Given the description of an element on the screen output the (x, y) to click on. 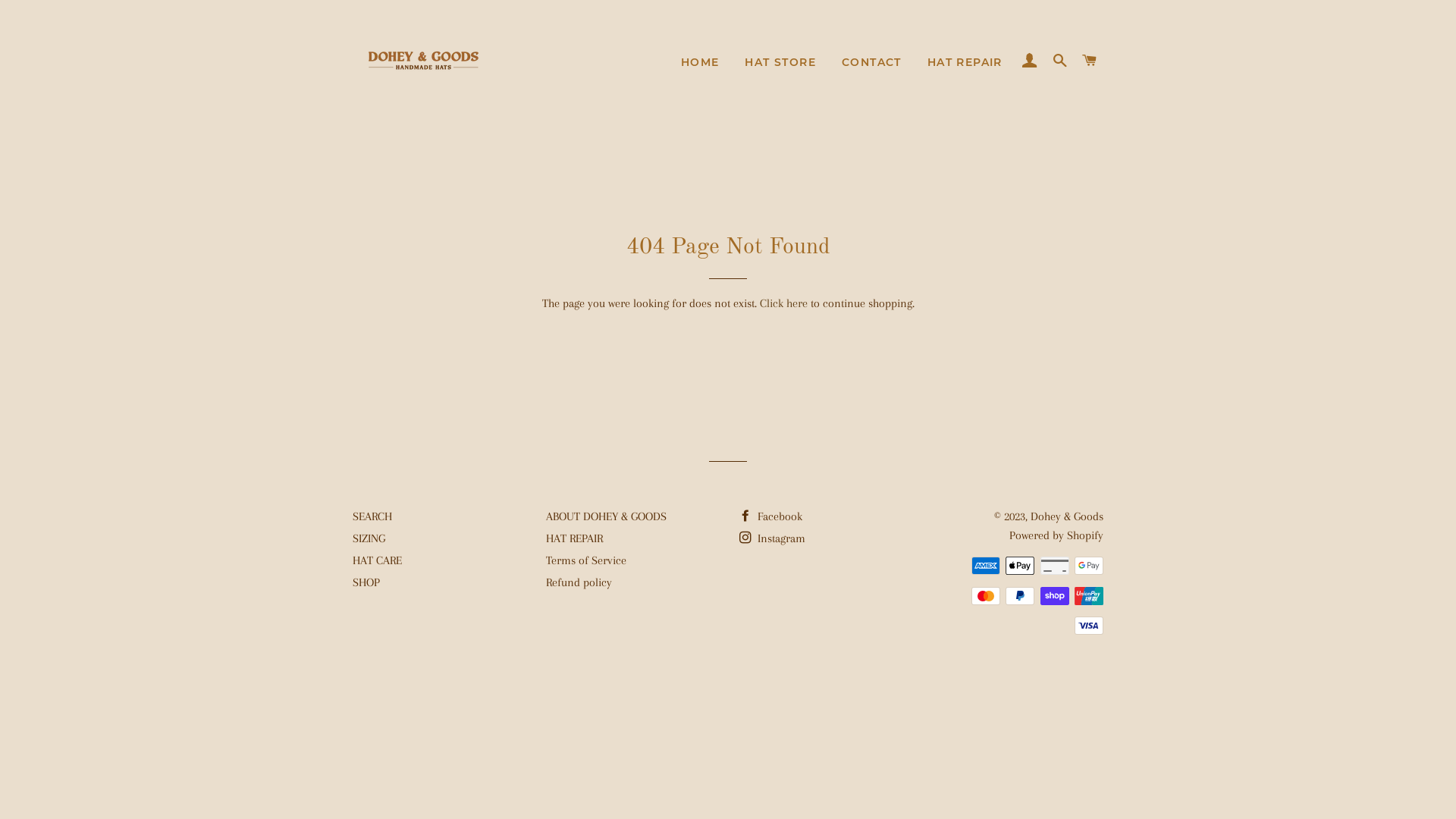
HOME Element type: text (700, 62)
HAT REPAIR Element type: text (964, 62)
SHOP Element type: text (365, 582)
HAT STORE Element type: text (780, 62)
SEARCH Element type: text (1059, 60)
HAT REPAIR Element type: text (574, 538)
Dohey & Goods Element type: text (1066, 516)
SIZING Element type: text (368, 538)
Facebook Element type: text (770, 516)
Click here Element type: text (783, 303)
CART Element type: text (1089, 60)
LOG IN Element type: text (1029, 60)
SEARCH Element type: text (372, 516)
Instagram Element type: text (772, 538)
Terms of Service Element type: text (586, 560)
CONTACT Element type: text (871, 62)
ABOUT DOHEY & GOODS Element type: text (606, 516)
Refund policy Element type: text (578, 582)
Powered by Shopify Element type: text (1056, 535)
HAT CARE Element type: text (376, 560)
